Given the description of an element on the screen output the (x, y) to click on. 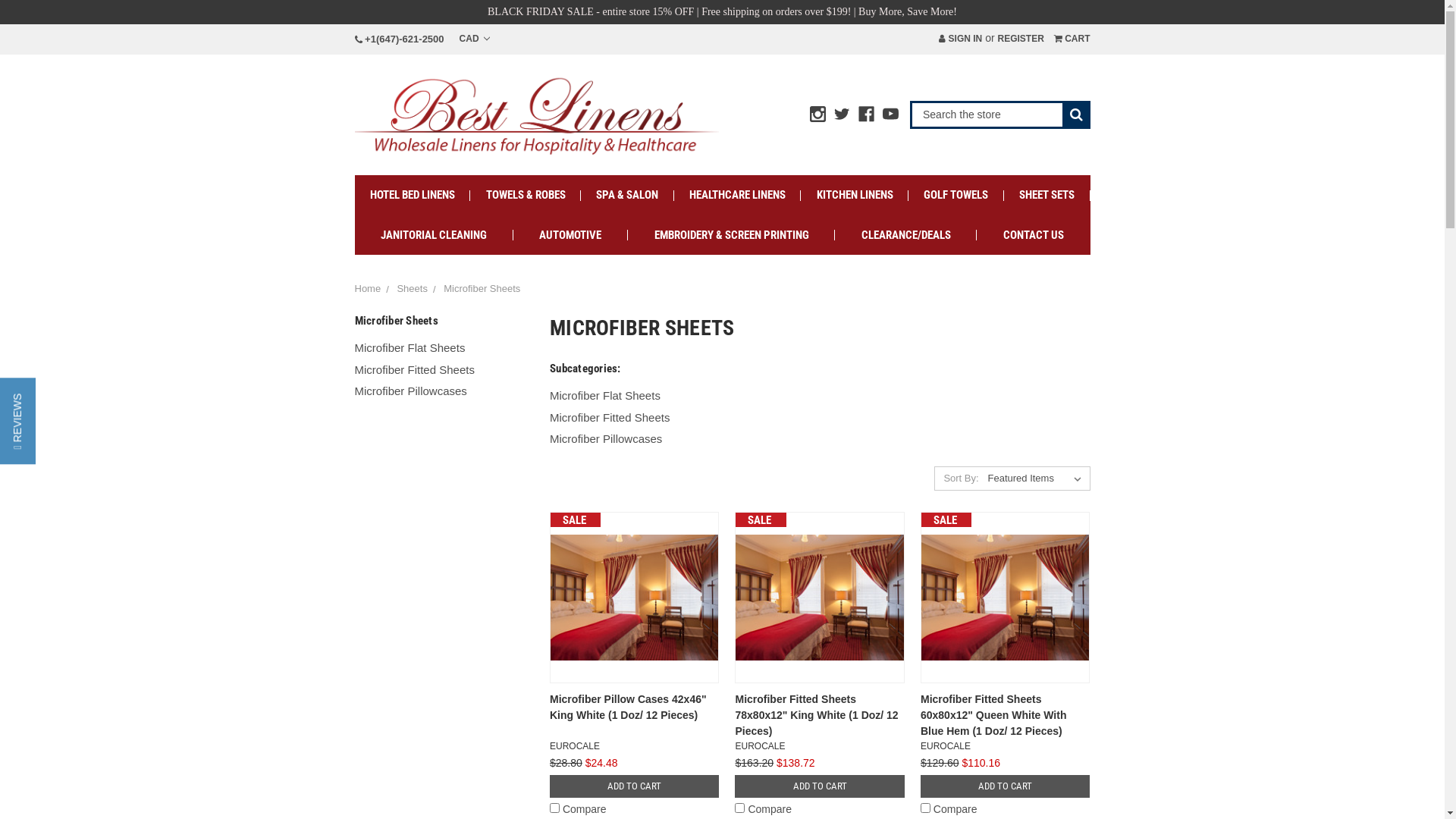
ADD TO CART Element type: text (818, 786)
REGISTER Element type: text (1020, 38)
CART Element type: text (1072, 38)
ADD TO CART Element type: text (633, 786)
KITCHEN LINENS Element type: text (854, 195)
CLEARANCE/DEALS Element type: text (905, 235)
TOWELS & ROBES Element type: text (525, 195)
Microfiber Pillowcases Element type: text (440, 391)
 +1(647)-621-2500 Element type: text (399, 39)
Best Linens Element type: hover (536, 114)
Microfiber Flat Sheets Element type: text (819, 396)
SPA & SALON Element type: text (627, 195)
SIGN IN Element type: text (960, 38)
Microfiber Pillow Cases 42x46" King White (1 Doz/ 12 Pieces) Element type: text (627, 707)
EMBROIDERY & SCREEN PRINTING Element type: text (730, 235)
Microfiber Pillow Case - White - 42x36" (1 dozen/ 12 pieces) Element type: hover (634, 597)
HOTEL BED LINENS Element type: text (412, 195)
CONTACT US Element type: text (1032, 235)
AUTOMOTIVE Element type: text (570, 235)
GOLF TOWELS Element type: text (956, 195)
Microfiber Fitted Sheets Element type: text (819, 418)
Microfiber Fitted Sheets Element type: text (440, 370)
HEALTHCARE LINENS Element type: text (737, 195)
JANITORIAL CLEANING Element type: text (433, 235)
ADD TO CART Element type: text (1004, 786)
Microfiber Pillowcases Element type: text (819, 439)
Home Element type: text (367, 288)
Microfiber Flat Sheets Element type: text (440, 348)
Sheets Element type: text (411, 288)
SHEET SETS Element type: text (1047, 195)
CAD Element type: text (474, 38)
